Given the description of an element on the screen output the (x, y) to click on. 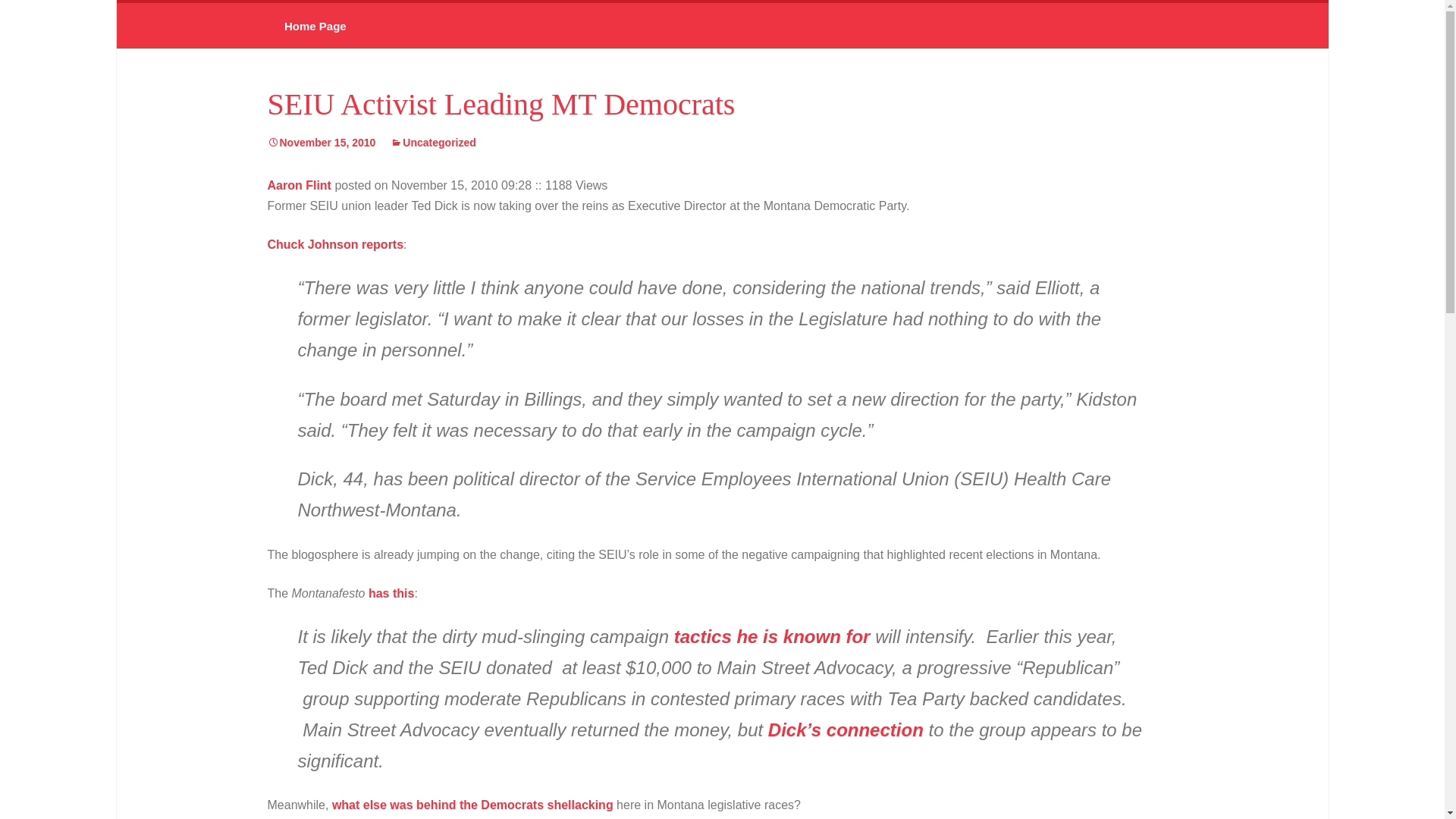
Aaron Flint (298, 185)
tactics he is known for (772, 636)
Home Page (314, 25)
November 15, 2010 (320, 142)
has this (390, 593)
Search (24, 22)
Chuck Johnson reports (334, 244)
Permalink to SEIU Activist Leading MT Democrats (320, 142)
